Given the description of an element on the screen output the (x, y) to click on. 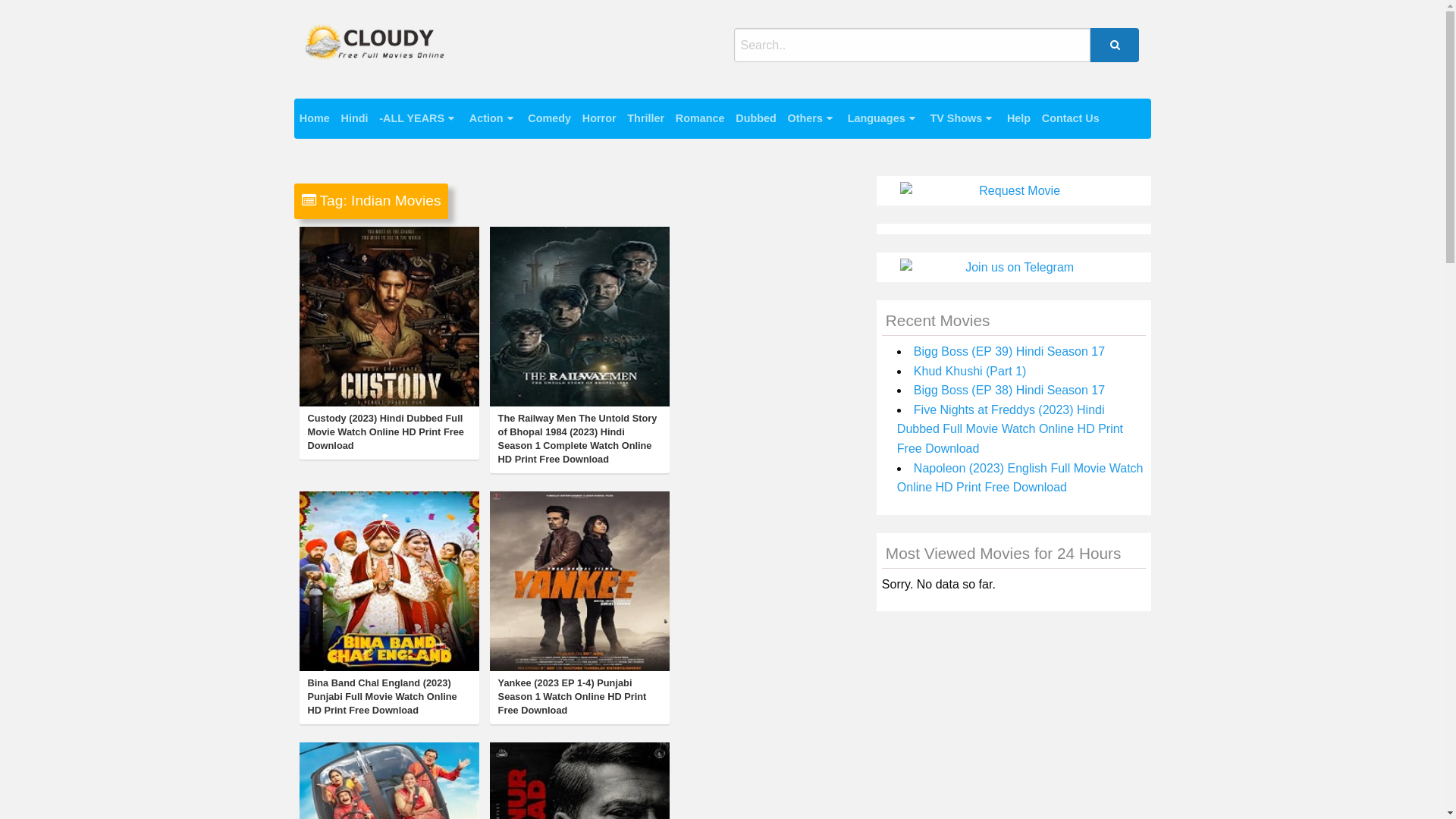
Bigg Boss (EP 39) Hindi Season 17 Element type: text (1008, 351)
Request Movie Element type: hover (1013, 191)
Others Element type: text (811, 118)
Home Element type: text (314, 118)
Cloudy PK Element type: text (344, 72)
Contact Us Element type: text (1069, 118)
yankee 2023 ep 1 4 punjabi season 1 Element type: hover (579, 581)
Help Element type: text (1018, 118)
Khud Khushi (Part 1) Element type: text (969, 370)
Horror Element type: text (598, 118)
TV Shows Element type: text (962, 118)
Languages Element type: text (882, 118)
Join us on Telegram Element type: hover (1013, 267)
Comedy Element type: text (549, 118)
bina band chal england 2023 punjabi Element type: hover (388, 581)
Romance Element type: text (699, 118)
custody 2023 unofficial hindi dubbed full movie watch online Element type: hover (388, 316)
-ALL YEARS Element type: text (418, 118)
Dubbed Element type: text (755, 118)
Thriller Element type: text (645, 118)
Bigg Boss (EP 38) Hindi Season 17 Element type: text (1008, 389)
Hindi Element type: text (354, 118)
Action Element type: text (492, 118)
